Given the description of an element on the screen output the (x, y) to click on. 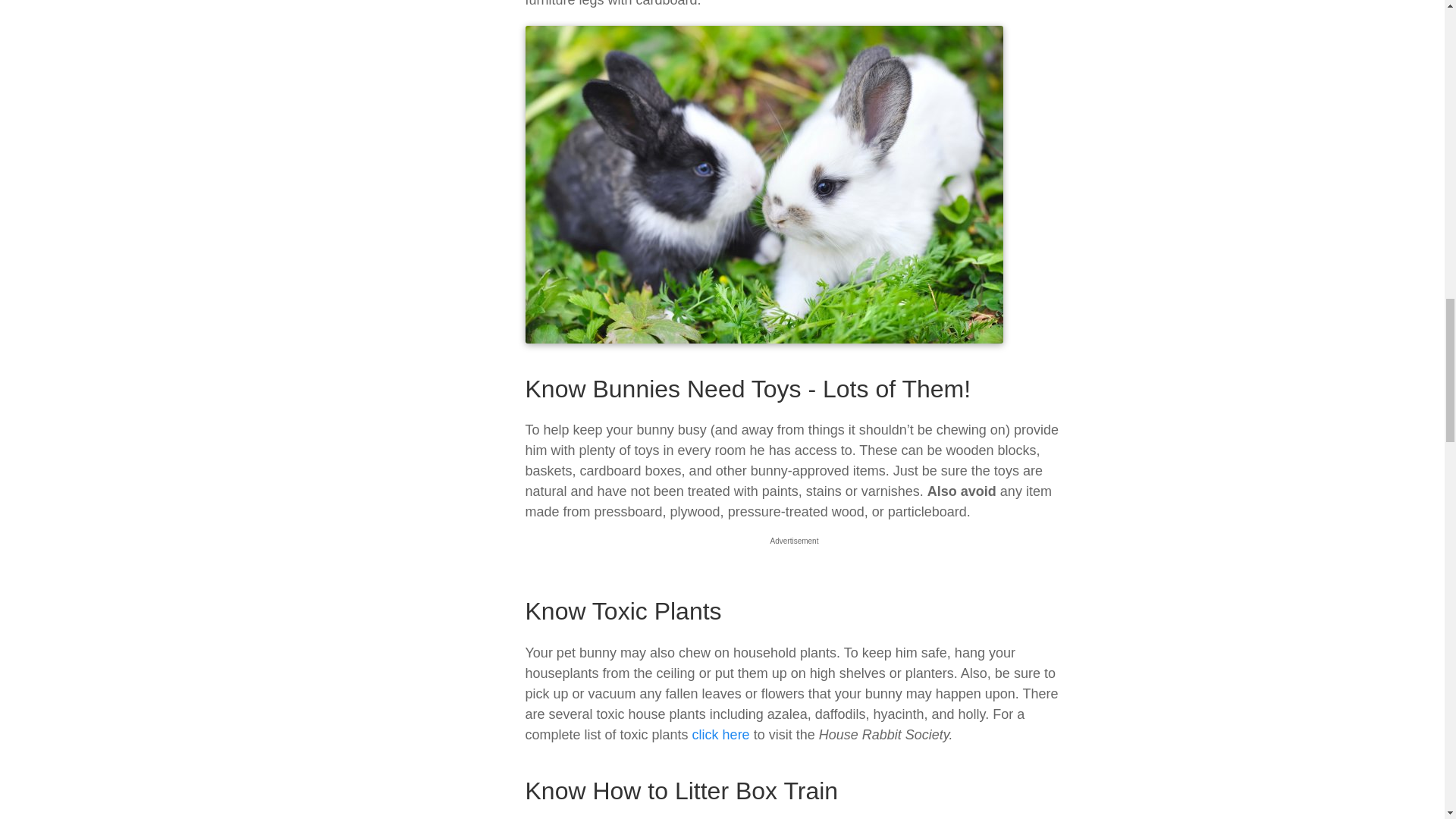
click here (723, 734)
